Given the description of an element on the screen output the (x, y) to click on. 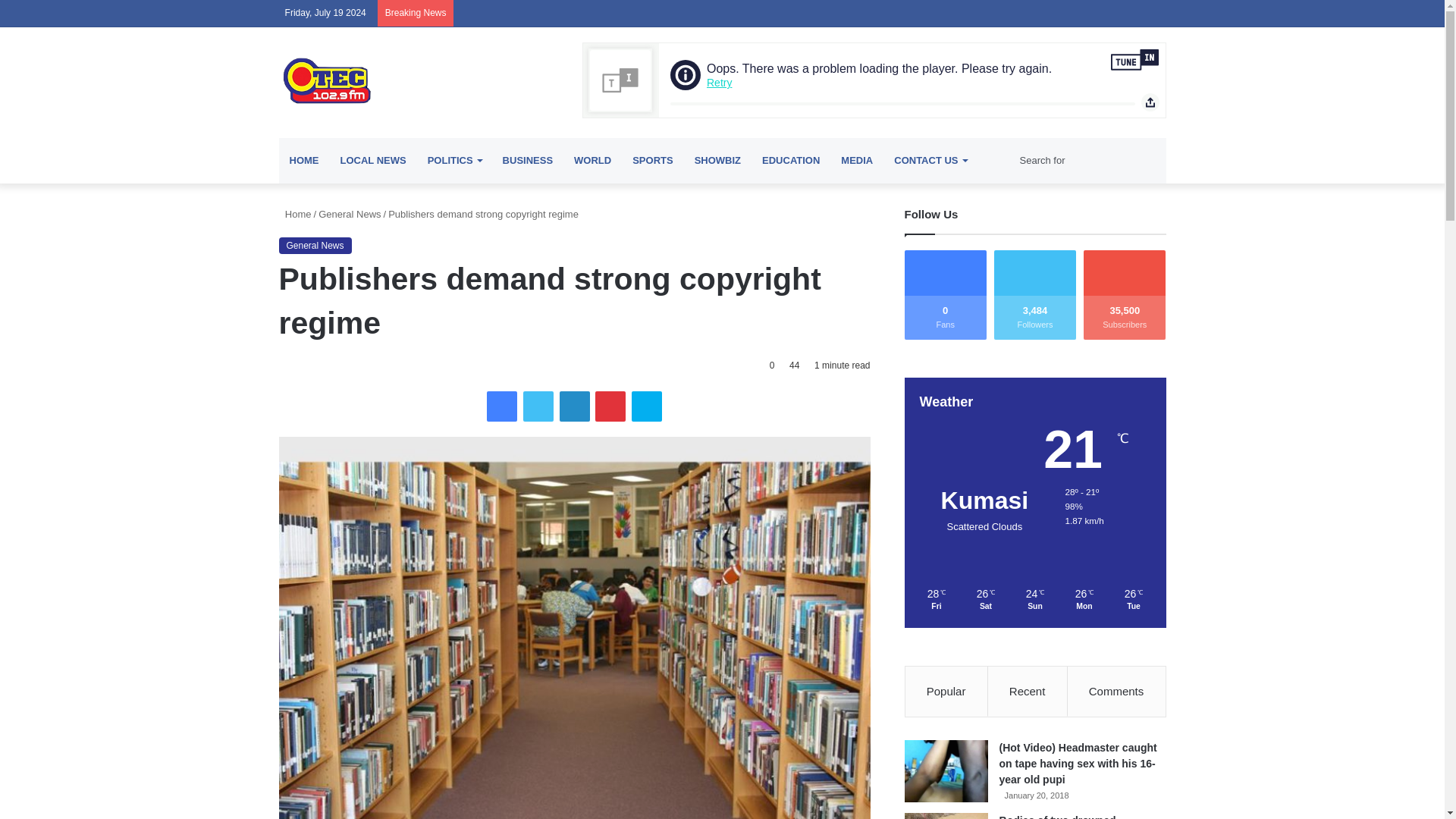
Facebook (501, 406)
HOME (304, 160)
Log In (1109, 13)
Random Article (992, 160)
Search for (1088, 160)
Random Article (1131, 13)
CONTACT US (929, 160)
Twitter (1040, 13)
Otec 102.9 FM (419, 80)
LOCAL NEWS (372, 160)
Home (295, 214)
Random Article (1131, 13)
POLITICS (454, 160)
General News (349, 214)
YouTube (1063, 13)
